Given the description of an element on the screen output the (x, y) to click on. 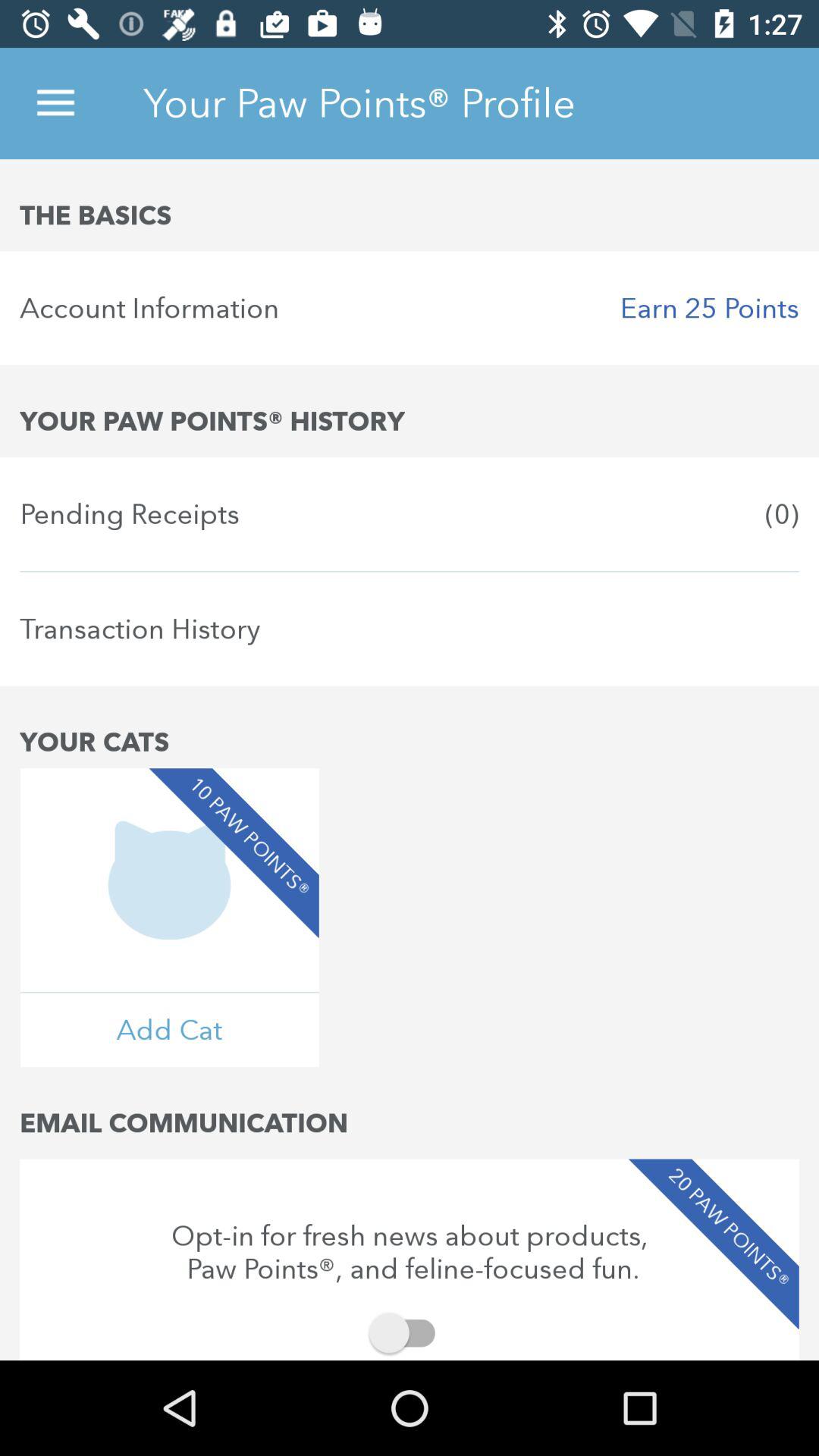
choose the item below the your paw points item (409, 514)
